Given the description of an element on the screen output the (x, y) to click on. 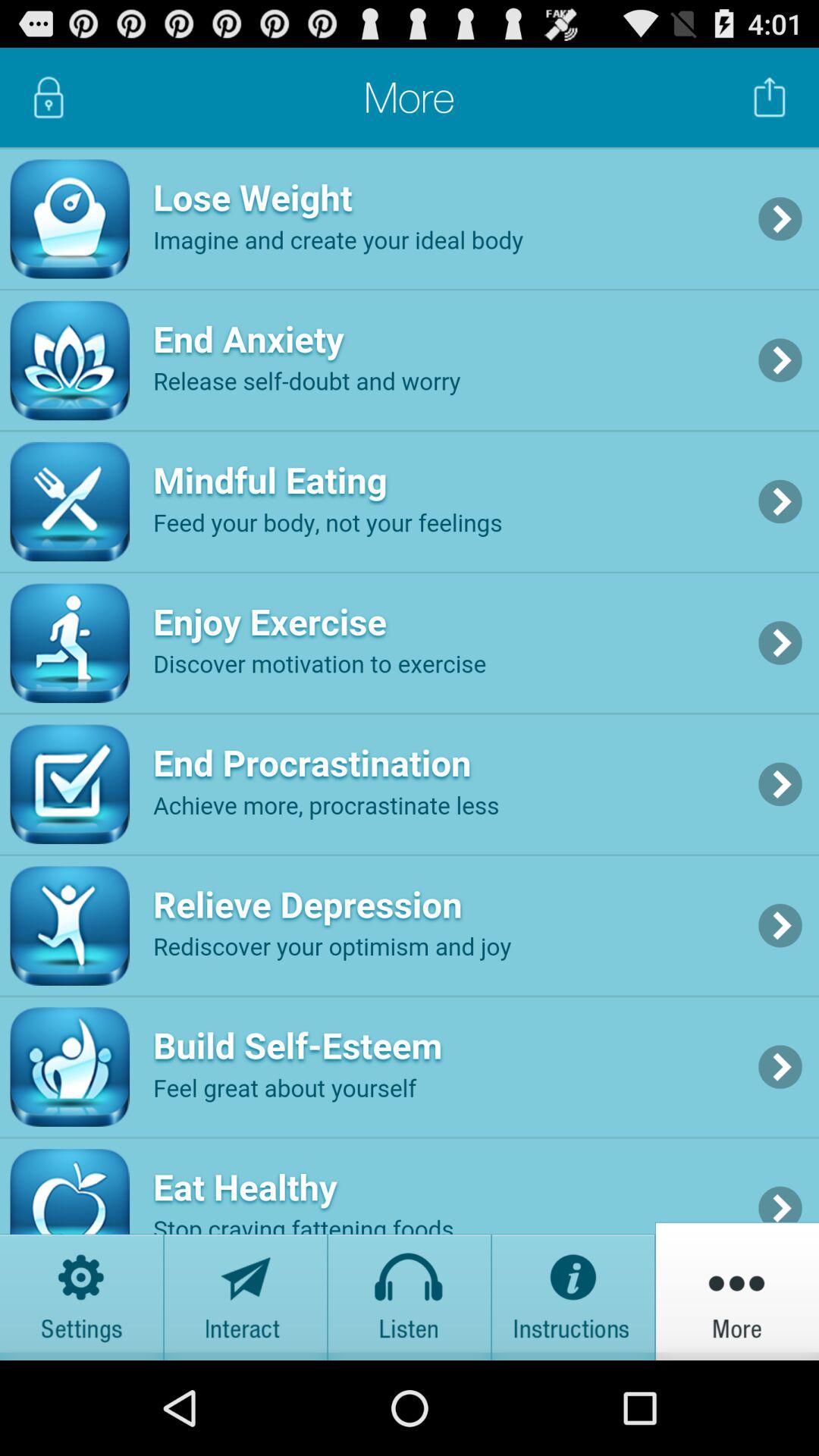
send message (245, 1290)
